Given the description of an element on the screen output the (x, y) to click on. 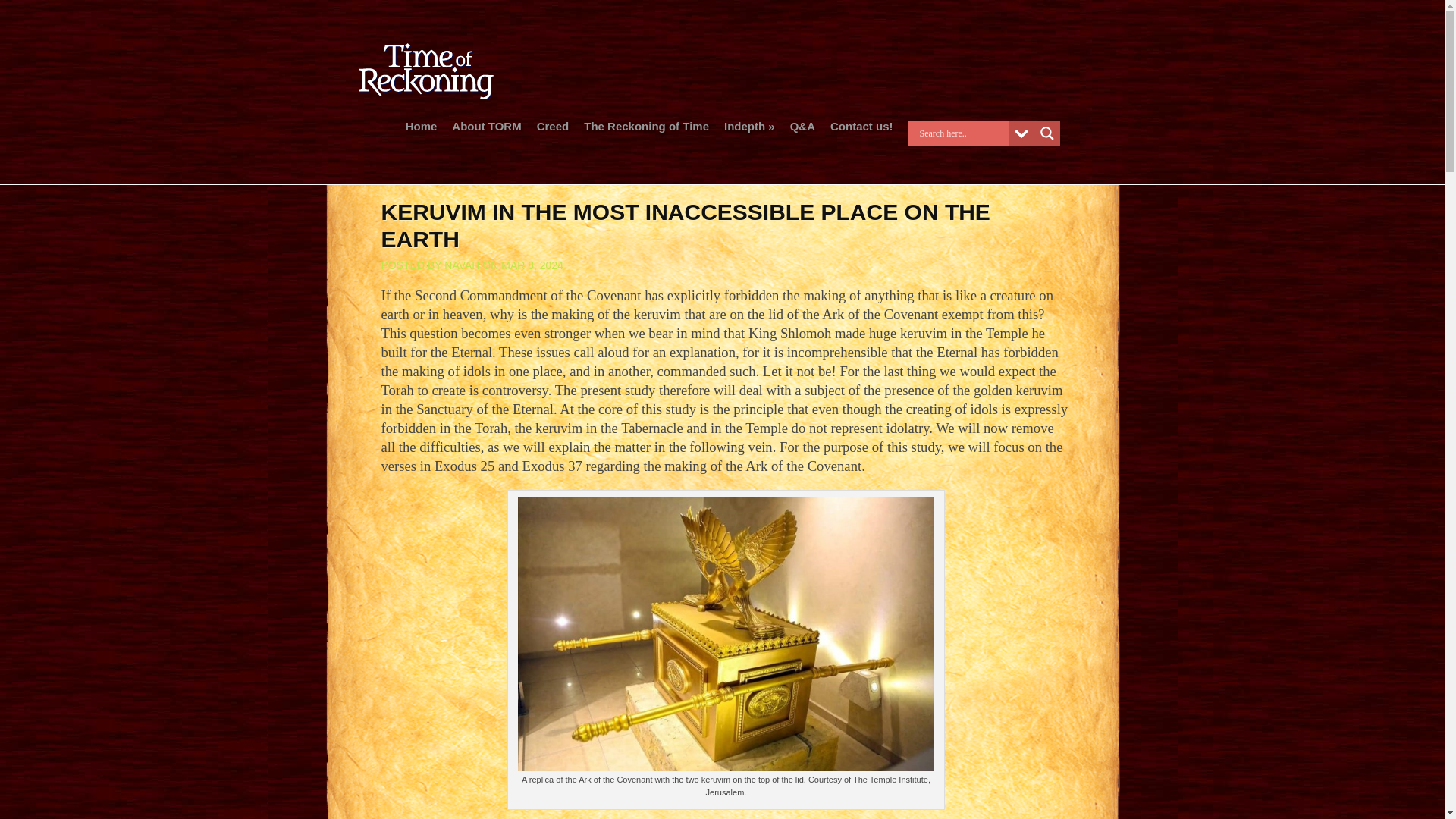
The Reckoning of Time (646, 129)
Posts by Navah (461, 265)
Indepth (748, 129)
Creed (553, 129)
About TORM (486, 129)
Home (422, 129)
